Given the description of an element on the screen output the (x, y) to click on. 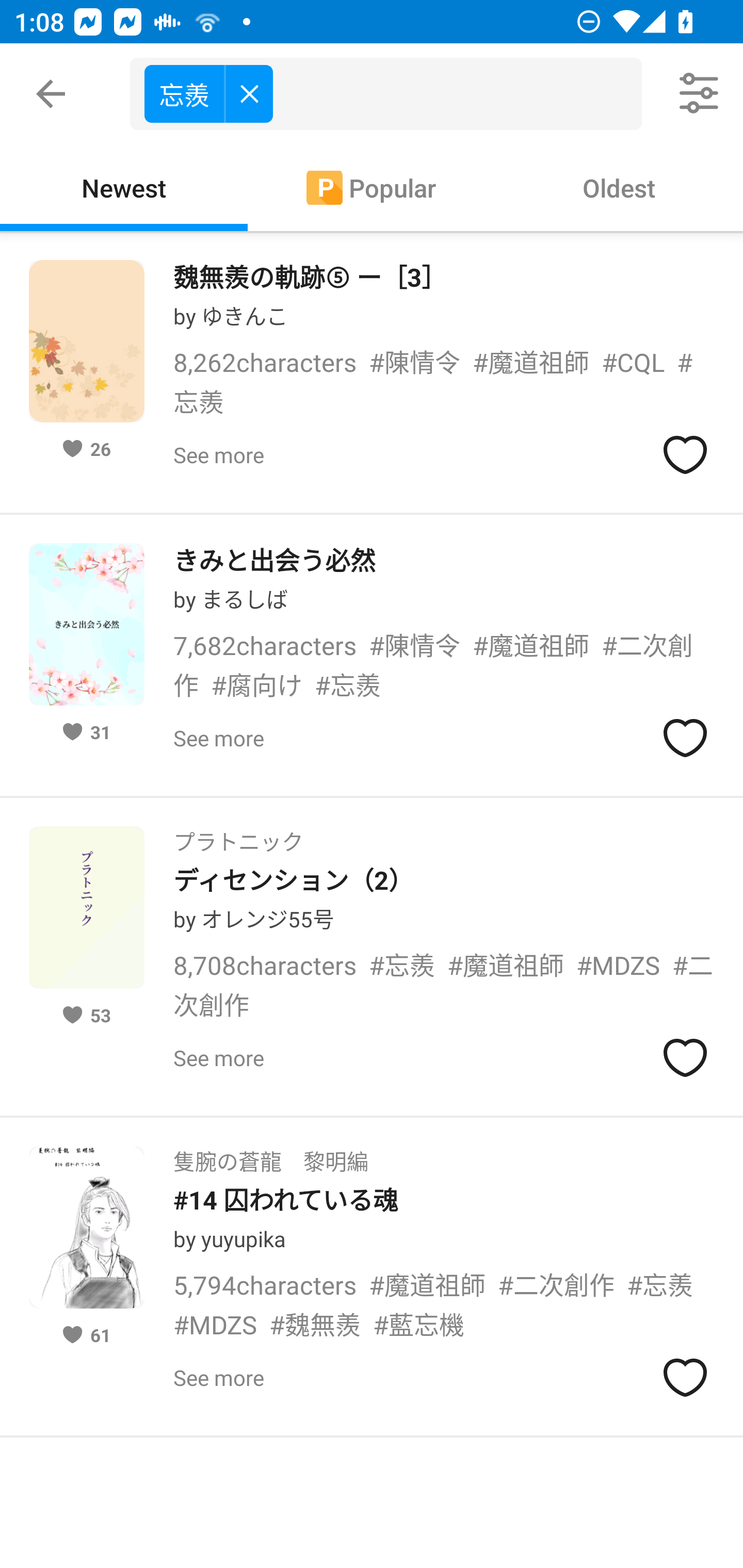
Navigate up (50, 93)
Filters (699, 93)
忘羨 (208, 93)
[P] Popular (371, 187)
Oldest (619, 187)
プラトニック (238, 835)
隻腕の蒼龍　黎明編 (270, 1155)
